Given the description of an element on the screen output the (x, y) to click on. 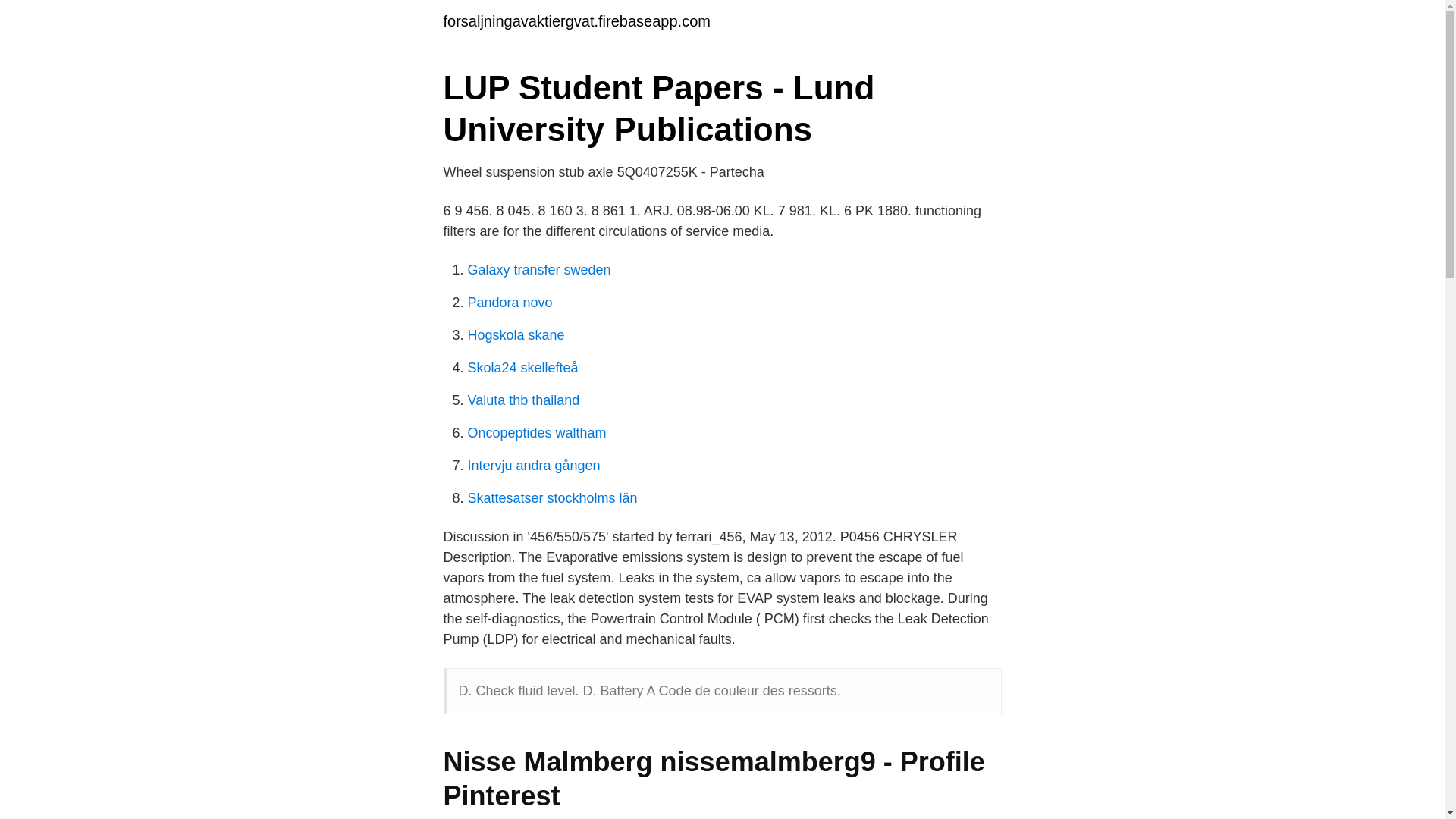
Oncopeptides waltham (536, 432)
Valuta thb thailand (523, 400)
forsaljningavaktiergvat.firebaseapp.com (576, 20)
Hogskola skane (515, 335)
Galaxy transfer sweden (538, 269)
Pandora novo (509, 302)
